Given the description of an element on the screen output the (x, y) to click on. 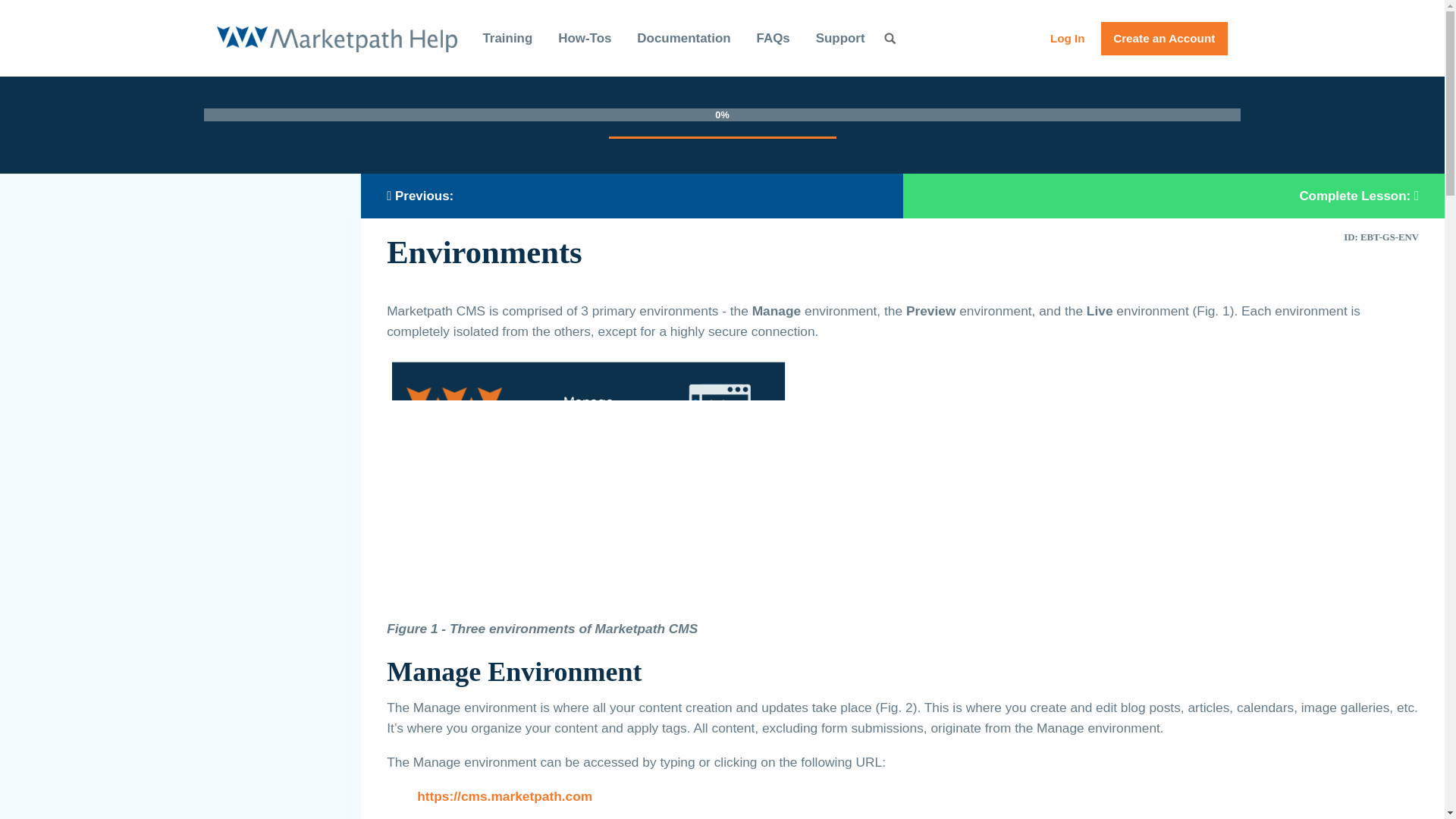
How-Tos (584, 38)
Register for Marketpath CMS (1163, 38)
Log In (1067, 38)
Create an Account (1163, 38)
logo (336, 38)
Documentation (683, 38)
FAQs (773, 38)
Training (506, 38)
Support (840, 38)
Log into Marketpath CMS (1067, 38)
three environments (588, 487)
Marketpath CMS Login (504, 795)
Previous: (631, 195)
